Given the description of an element on the screen output the (x, y) to click on. 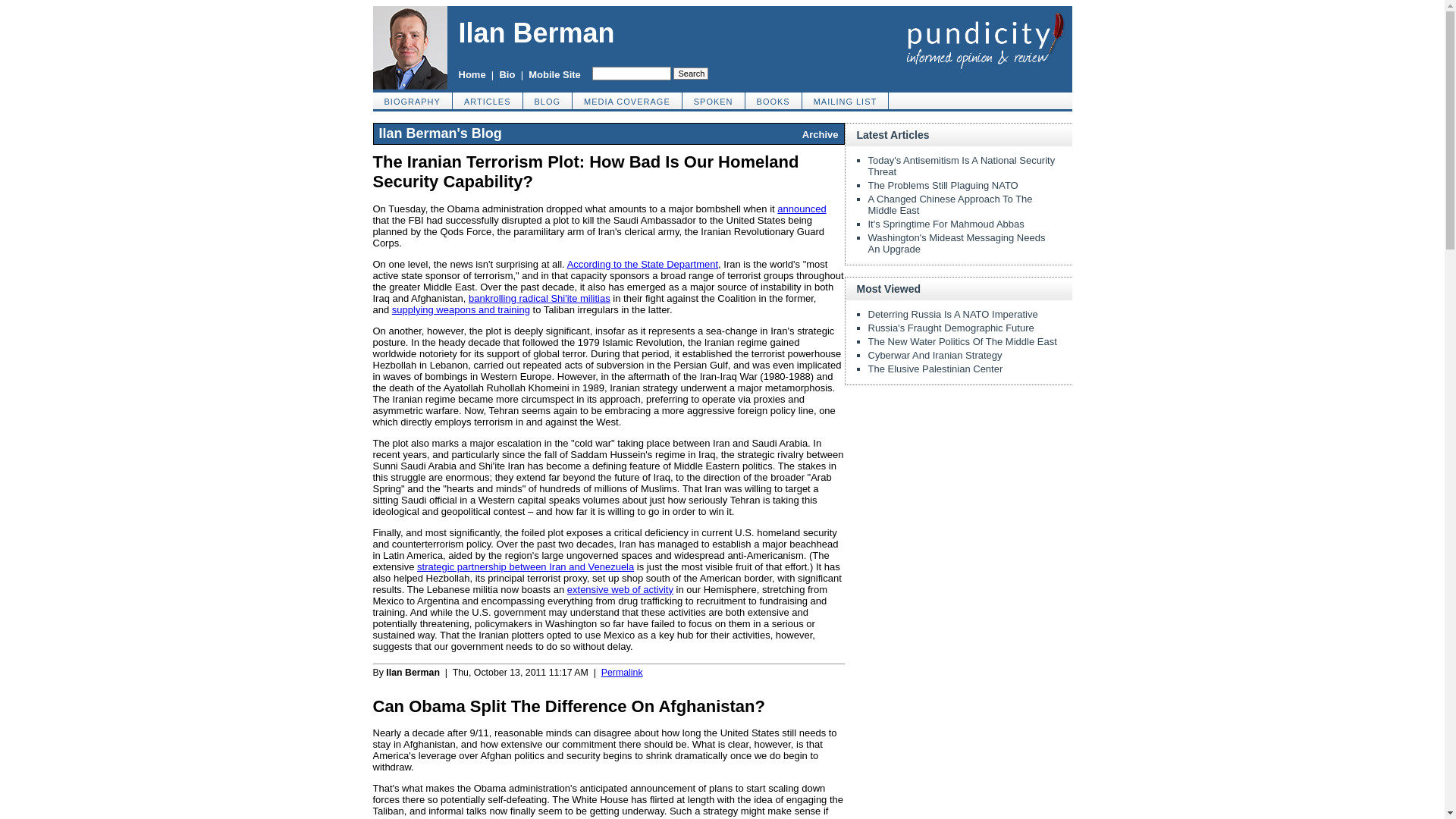
Search (689, 73)
Archive (820, 134)
Ilan Berman (536, 32)
BLOG (547, 100)
BIOGRAPHY (412, 100)
SPOKEN (713, 100)
According to the State Department (642, 264)
Can Obama Split The Difference On Afghanistan? (568, 705)
Permalink (622, 672)
supplying weapons and training (460, 309)
MEDIA COVERAGE (627, 100)
Home (471, 74)
Bio (507, 74)
ARTICLES (487, 100)
